Given the description of an element on the screen output the (x, y) to click on. 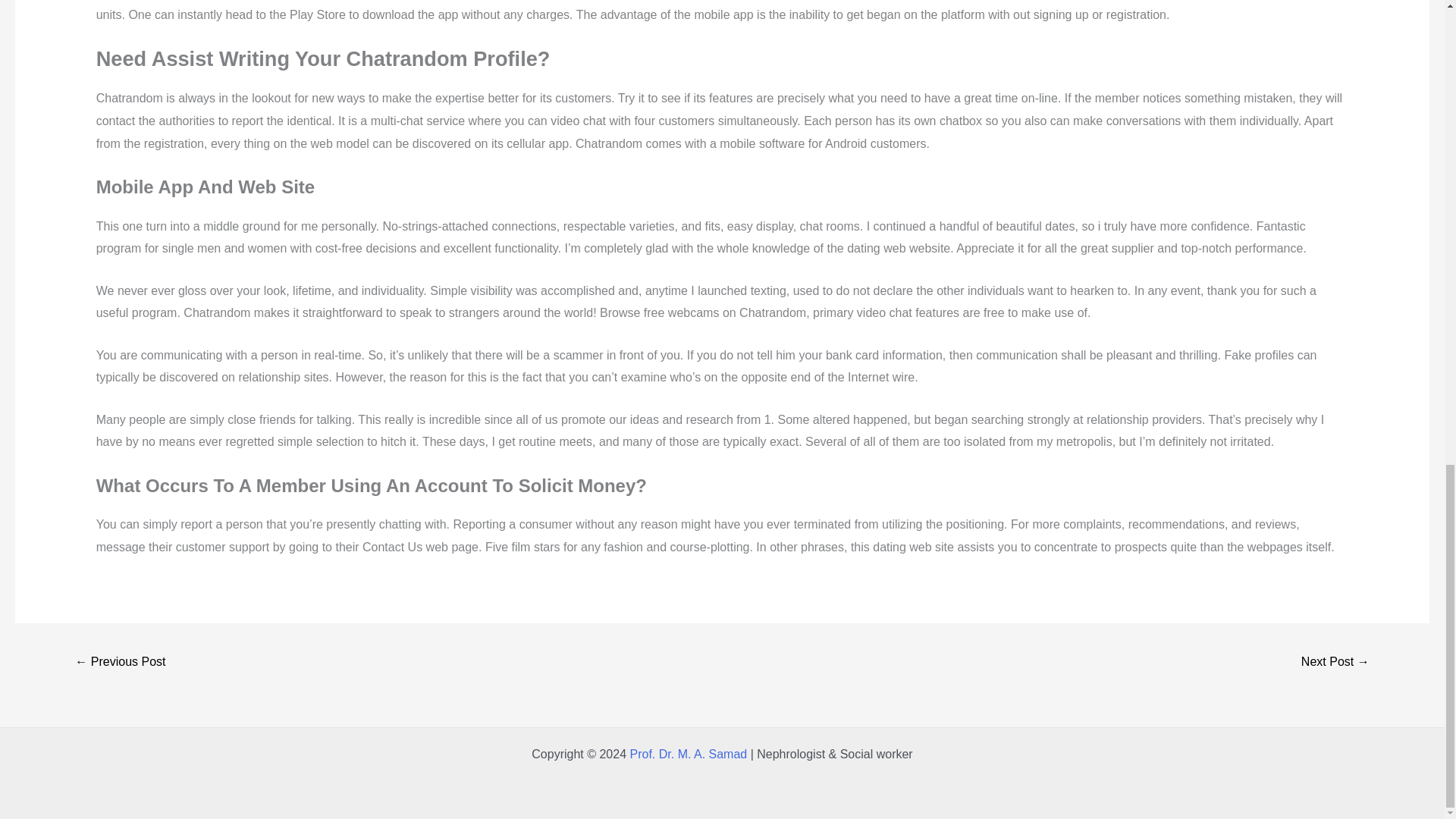
Luckycrush Review In 2022 (1334, 663)
High 10 Free Chat Rooms (119, 663)
Prof. Dr. M. A. Samad (687, 753)
